Given the description of an element on the screen output the (x, y) to click on. 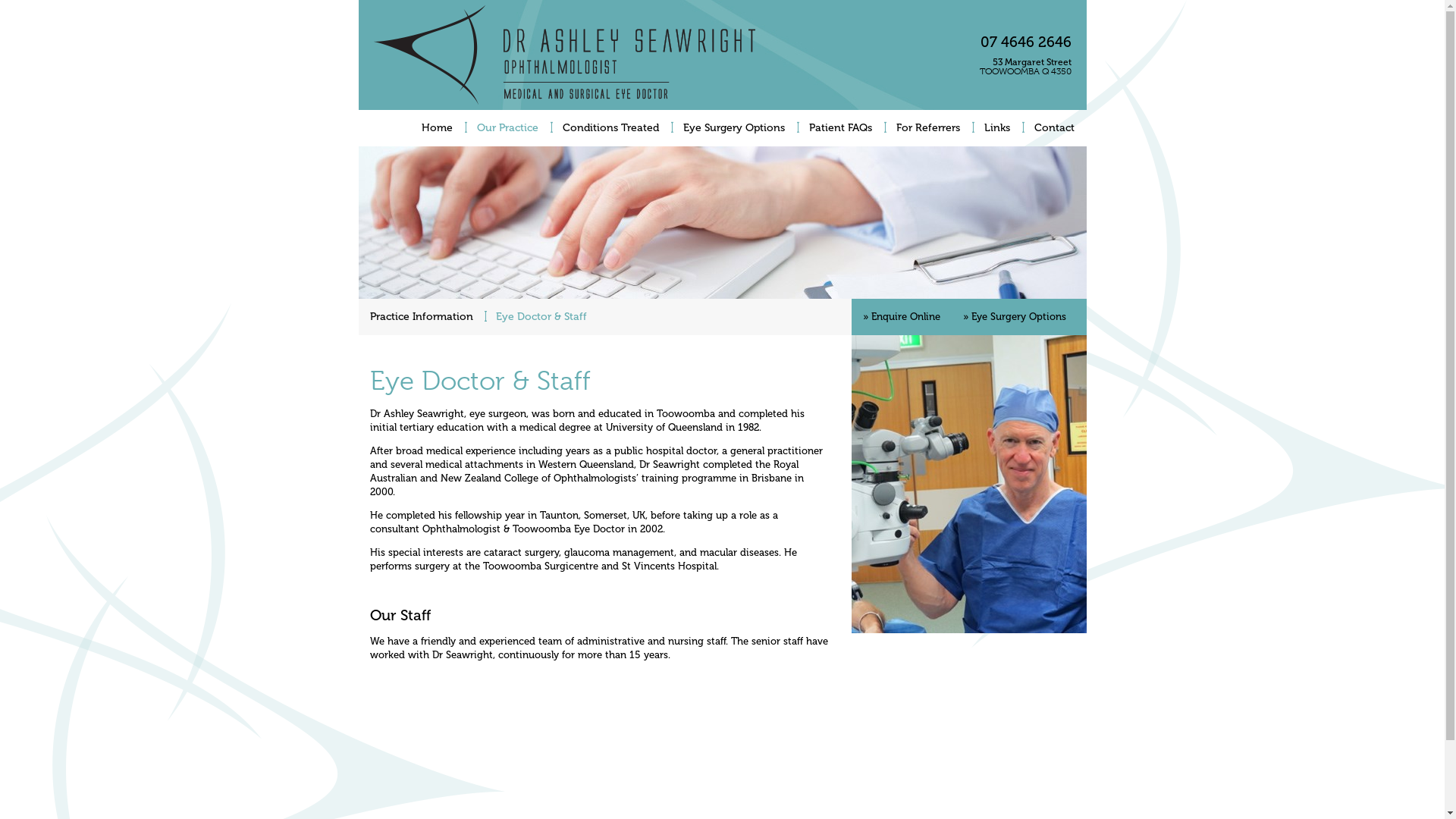
Home Element type: text (436, 127)
Contact Element type: text (1054, 127)
Eye Doctor & Staff Element type: text (540, 316)
Patient FAQs Element type: text (839, 127)
Practice Information Element type: text (420, 316)
Conditions Treated Element type: text (610, 127)
System.Func`1[System.String] Element type: hover (721, 222)
System.Func`1[System.String] Element type: hover (967, 484)
Eye Surgery Options Element type: text (733, 127)
Links Element type: text (997, 127)
Our Practice Element type: text (506, 127)
For Referrers Element type: text (928, 127)
